Given the description of an element on the screen output the (x, y) to click on. 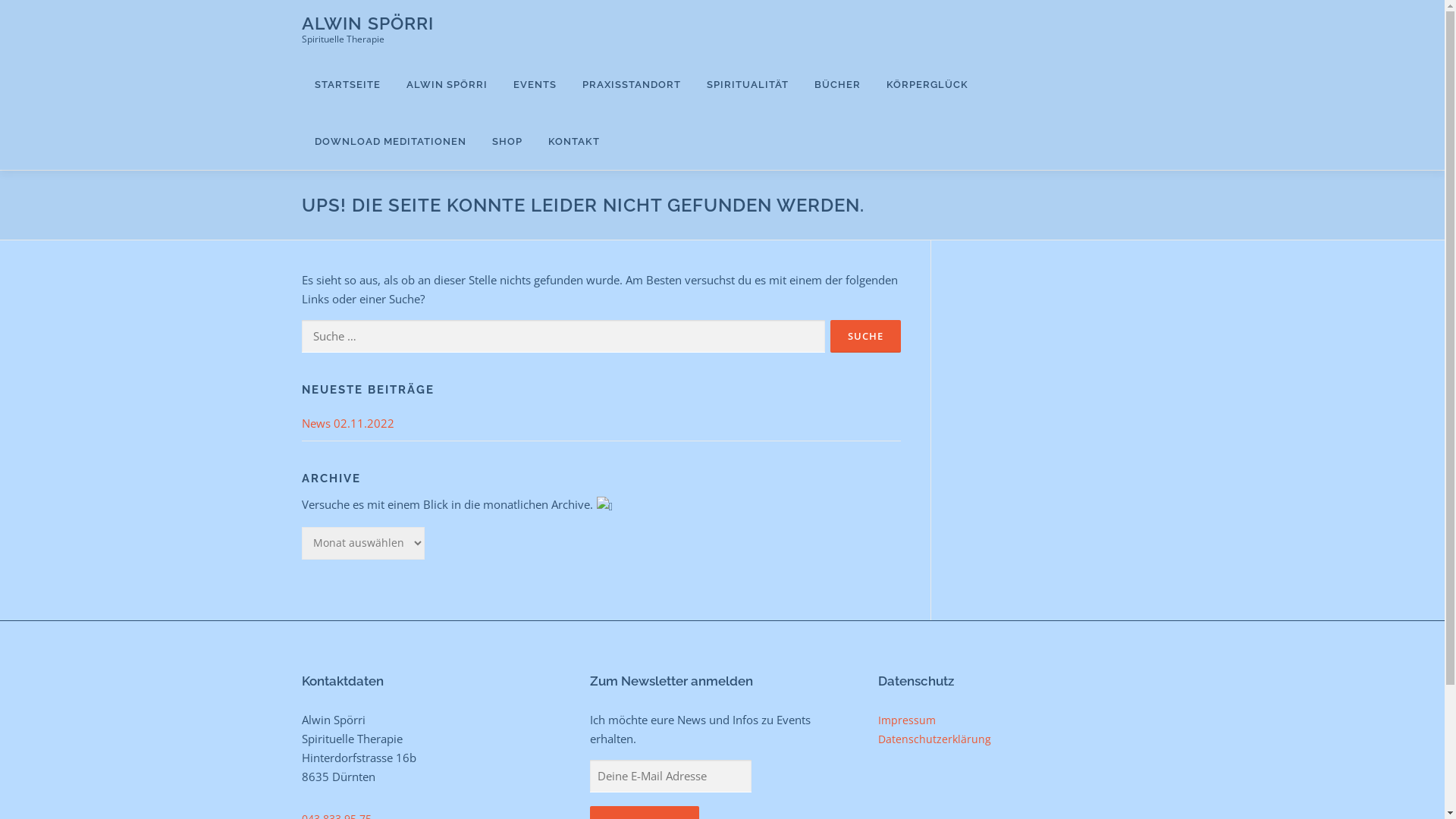
EVENTS Element type: text (534, 84)
PRAXISSTANDORT Element type: text (630, 84)
News 02.11.2022 Element type: text (347, 422)
Suche Element type: text (864, 336)
KONTAKT Element type: text (567, 140)
DOWNLOAD MEDITATIONEN Element type: text (390, 140)
STARTSEITE Element type: text (347, 84)
Impressum Element type: text (906, 719)
SHOP Element type: text (507, 140)
